Given the description of an element on the screen output the (x, y) to click on. 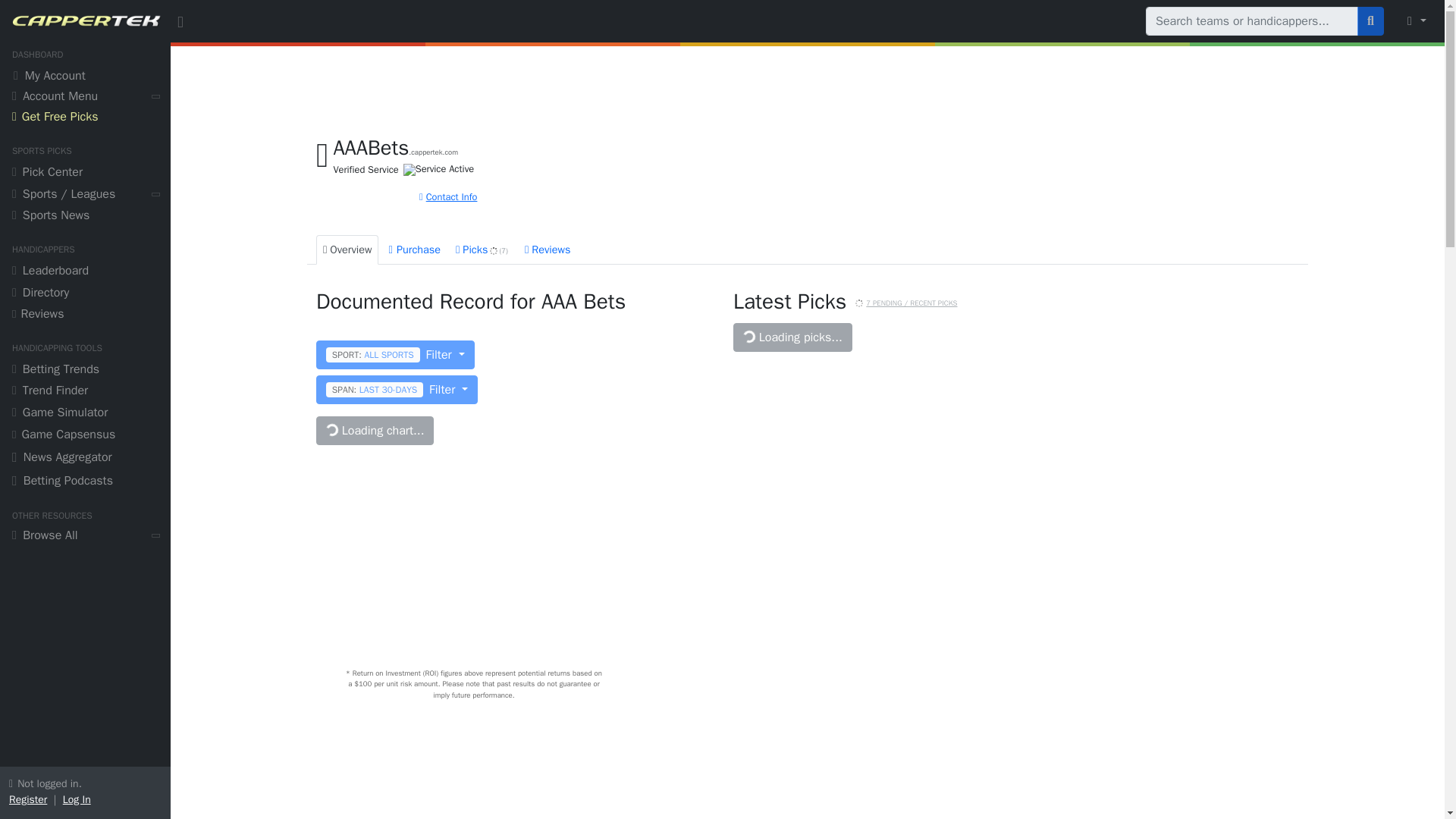
7 Picks Available (859, 303)
Sports News (85, 217)
Game Simulator (85, 414)
Service Active (438, 169)
Directory (85, 294)
Game Capsensus (85, 436)
Pick Center (85, 173)
7 Picks Available (493, 250)
Get Free Picks (85, 118)
Trend Finder (85, 392)
